Given the description of an element on the screen output the (x, y) to click on. 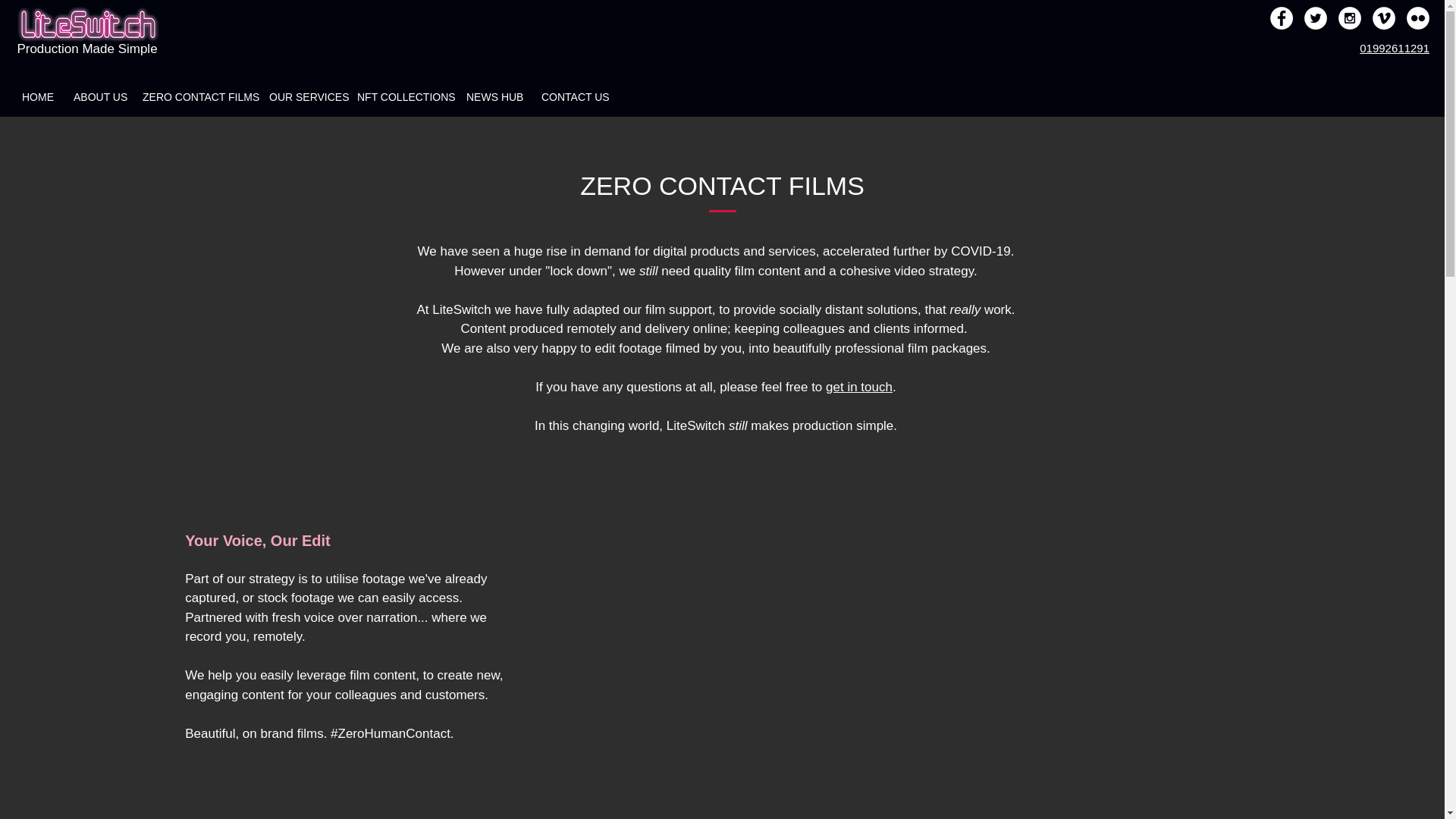
01992611291 (1394, 47)
CONTACT US (573, 96)
NEWS HUB (494, 96)
HOME (37, 96)
ZERO CONTACT FILMS (195, 96)
get in touch (858, 386)
NFT COLLECTIONS (402, 96)
